Given the description of an element on the screen output the (x, y) to click on. 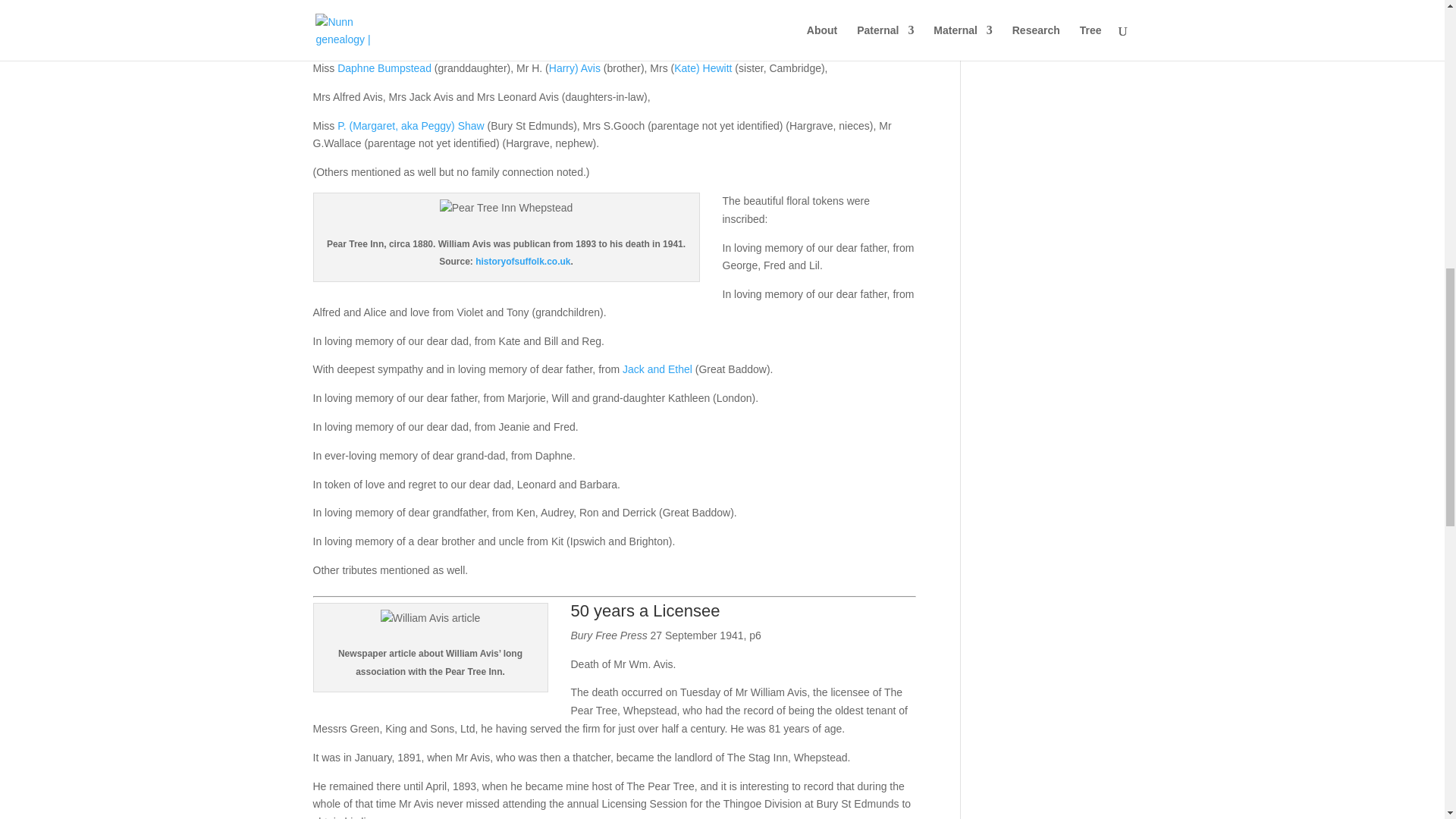
Jack (462, 10)
Fred (435, 10)
Mrs Bumpstead (635, 39)
Mrs Cooley (403, 39)
George (367, 10)
Leonard (516, 10)
Alfred (404, 10)
Mrs Wilshire (342, 39)
historyofsuffolk.co.uk (523, 261)
Daphne Bumpstead (383, 68)
Jack and Ethel (658, 369)
Mrs Allbrell (461, 39)
